Given the description of an element on the screen output the (x, y) to click on. 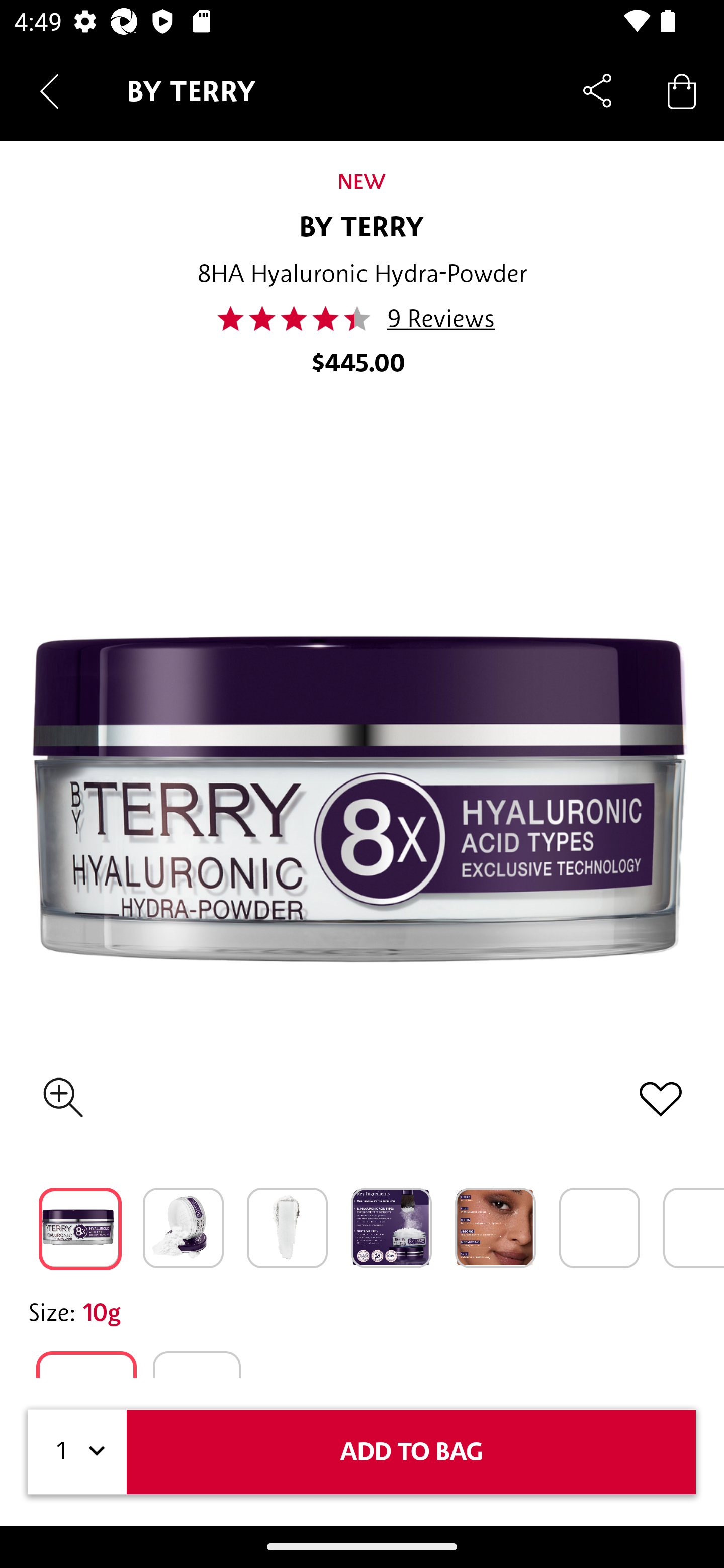
Navigate up (49, 91)
Share (597, 90)
Bag (681, 90)
BY TERRY (361, 226)
44.0 9 Reviews (361, 317)
1 (77, 1451)
ADD TO BAG (410, 1451)
